Given the description of an element on the screen output the (x, y) to click on. 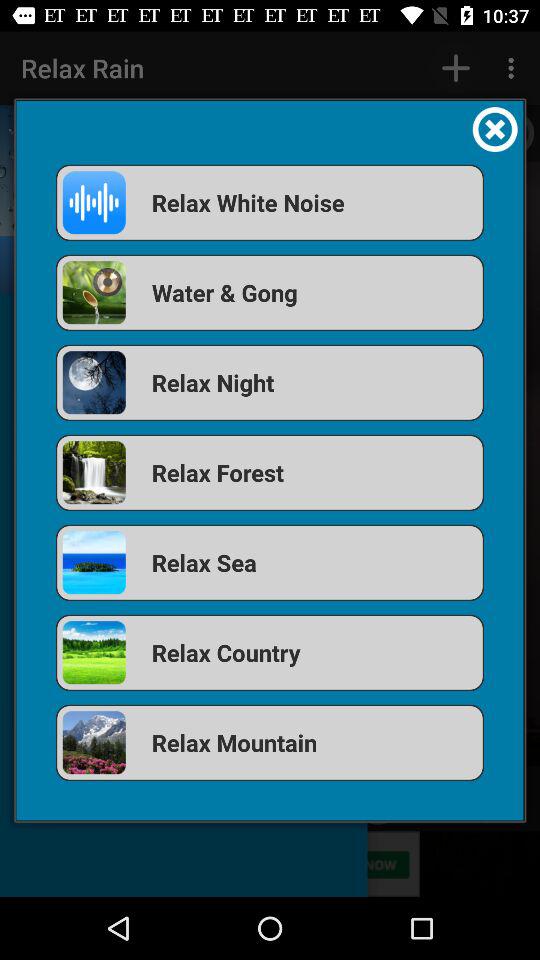
press water & gong item (269, 292)
